Given the description of an element on the screen output the (x, y) to click on. 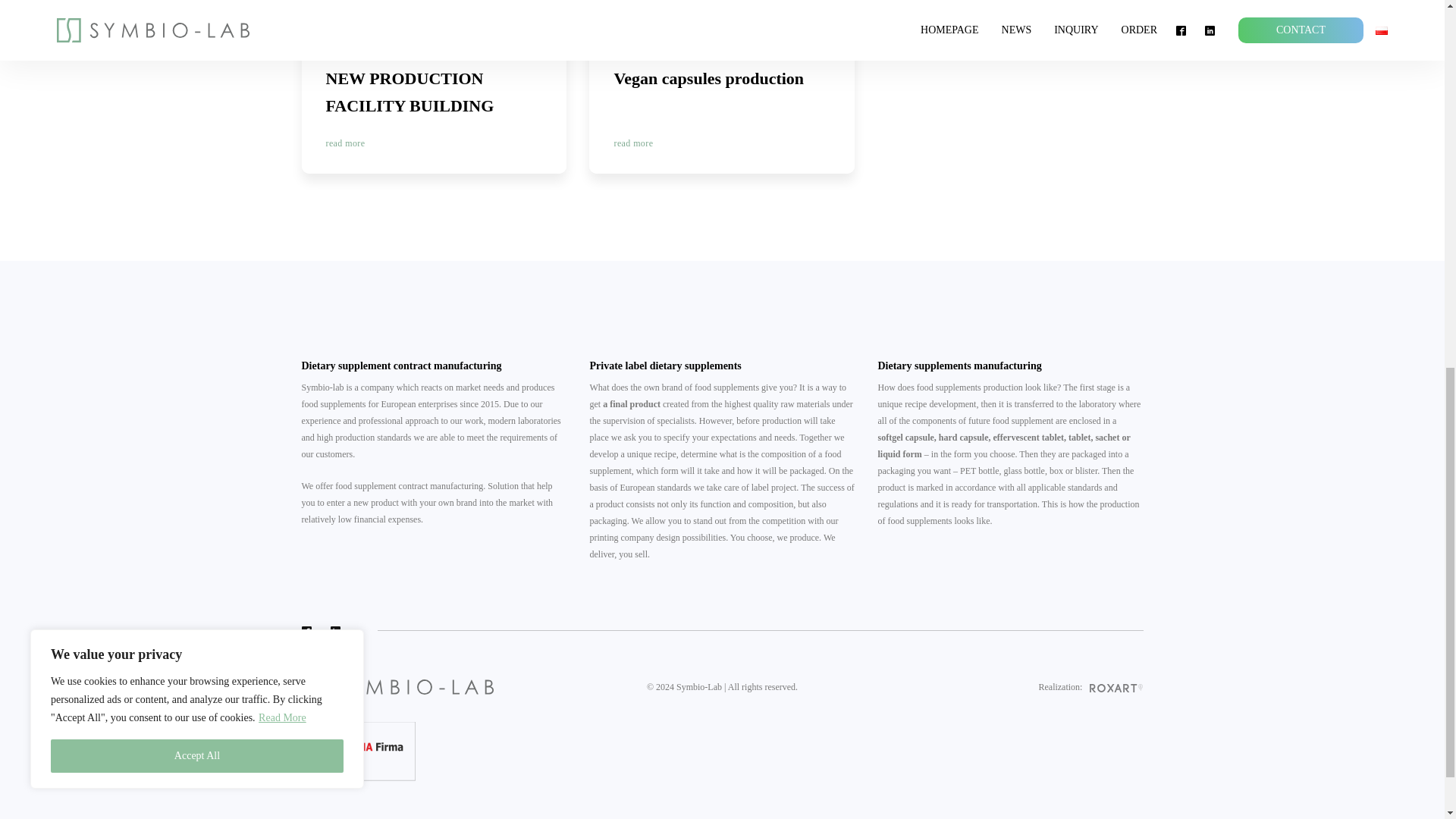
Accept All (433, 86)
Read More (196, 42)
